Given the description of an element on the screen output the (x, y) to click on. 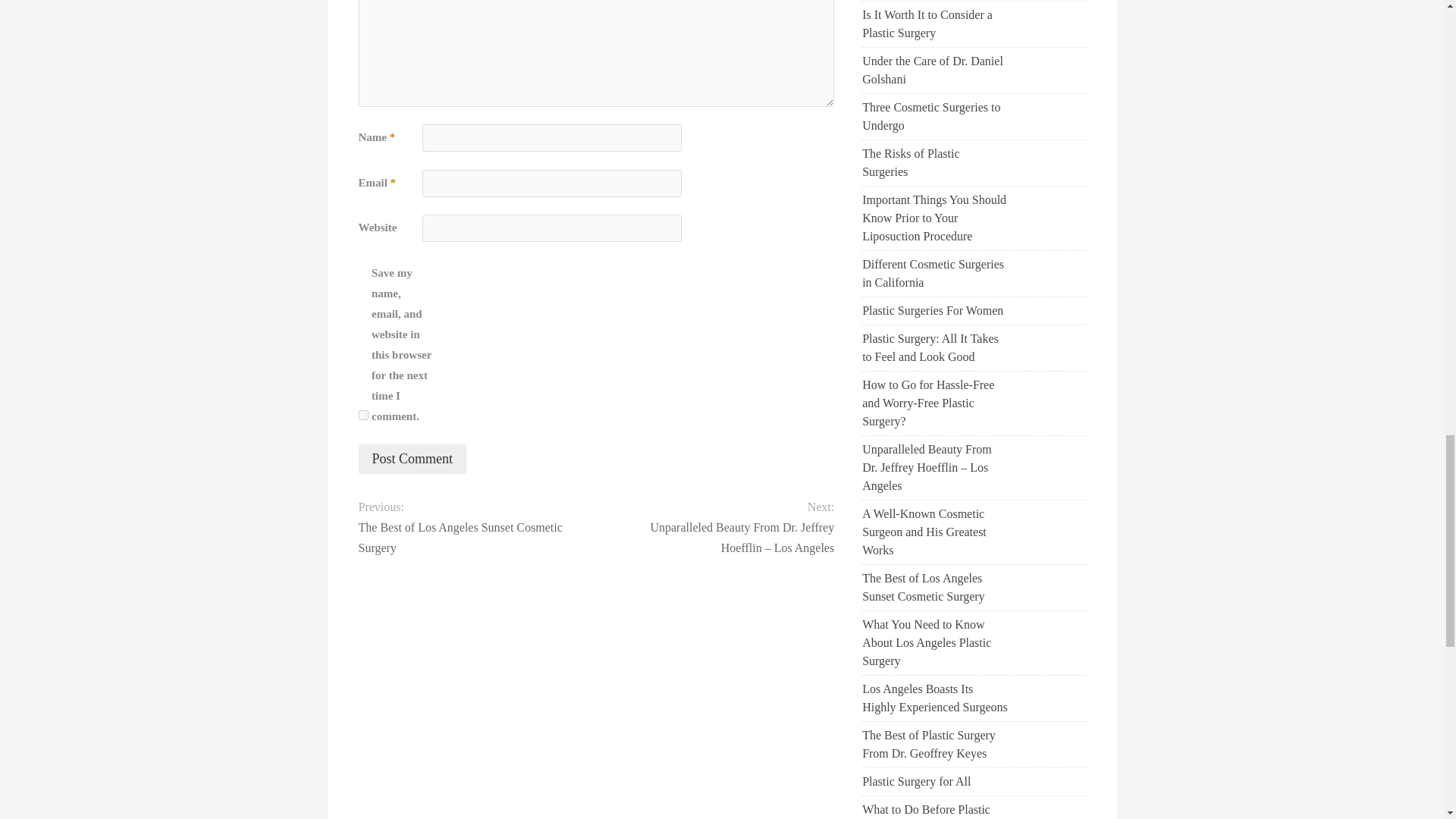
Post Comment (411, 459)
yes (363, 415)
Three Cosmetic Surgeries to Undergo (934, 116)
Is It Worth It to Consider a Plastic Surgery (934, 23)
Under the Care of Dr. Daniel Golshani (934, 70)
The Best of Los Angeles Sunset Cosmetic Surgery (465, 536)
Post Comment (411, 459)
